Given the description of an element on the screen output the (x, y) to click on. 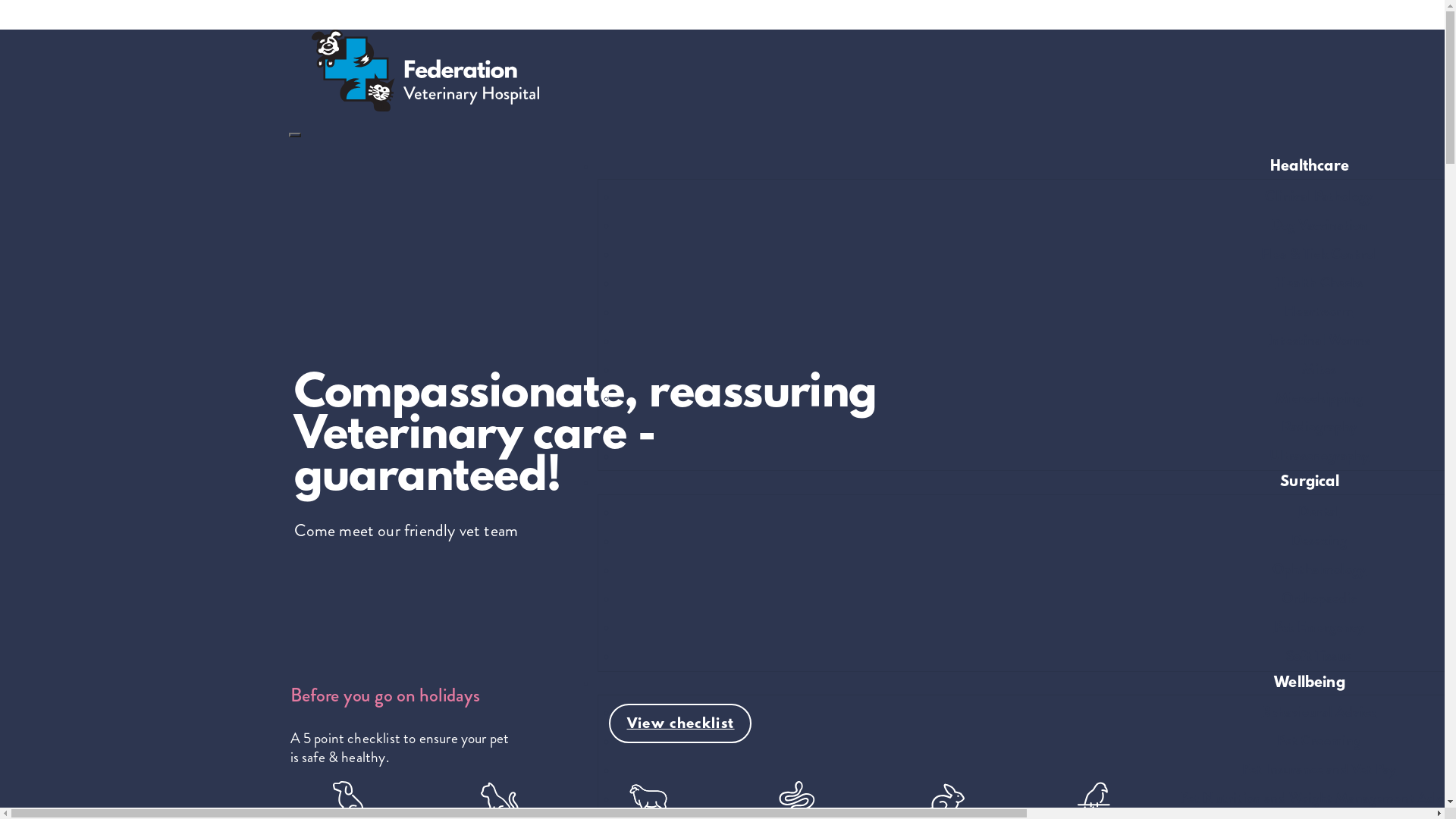
Mites Element type: text (1319, 368)
Pet Emergency Element type: text (1319, 626)
Radiography Element type: text (1319, 426)
Ultrasonography Element type: text (1319, 455)
Soft Tissue Element type: text (1319, 655)
Pet Grooming Element type: text (1318, 740)
Clinical Pathology Element type: text (1318, 196)
Microchipping Element type: text (1318, 397)
Orthopaedic Element type: text (1319, 597)
Heartworm Element type: text (1318, 311)
Skip to main content Element type: text (722, 7)
Pet Insurance and Vet Pay Element type: text (1319, 769)
Flea & Tick Control Element type: text (1319, 253)
Home Element type: hover (413, 107)
Behavioural Advice Element type: text (1318, 711)
Intestinal Worms Element type: text (1318, 340)
Dental Element type: text (1318, 511)
Dog Vaccination Element type: text (1319, 224)
Ophthalmology Element type: text (1318, 569)
View checklist Element type: text (679, 723)
Health Checks Element type: text (1318, 282)
Desexing Element type: text (1318, 540)
